Given the description of an element on the screen output the (x, y) to click on. 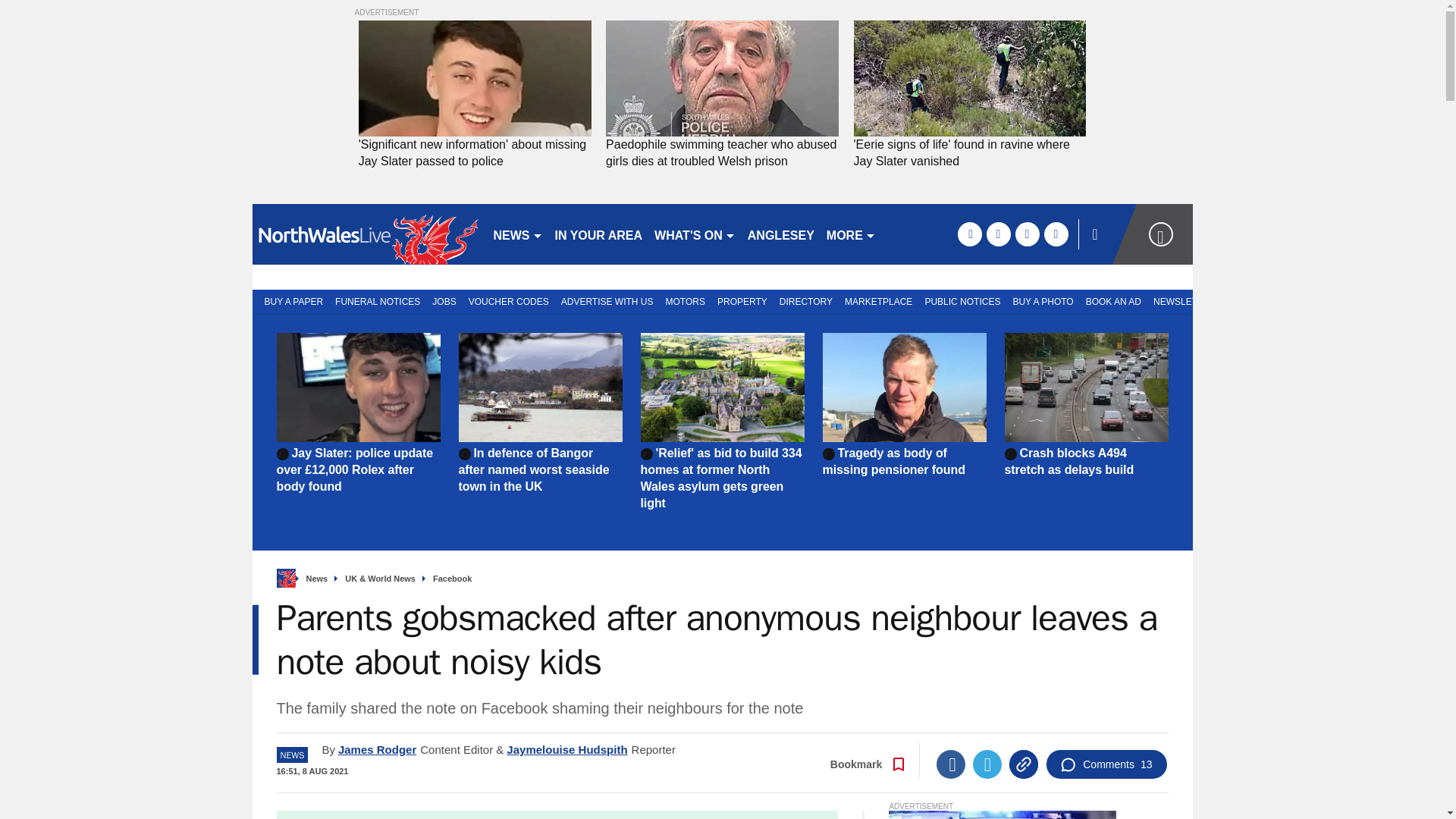
NEWS (517, 233)
BUY A PAPER (290, 300)
WHAT'S ON (694, 233)
northwales (365, 233)
Facebook (950, 764)
instagram (1055, 233)
pinterest (1026, 233)
Comments (1105, 764)
